Given the description of an element on the screen output the (x, y) to click on. 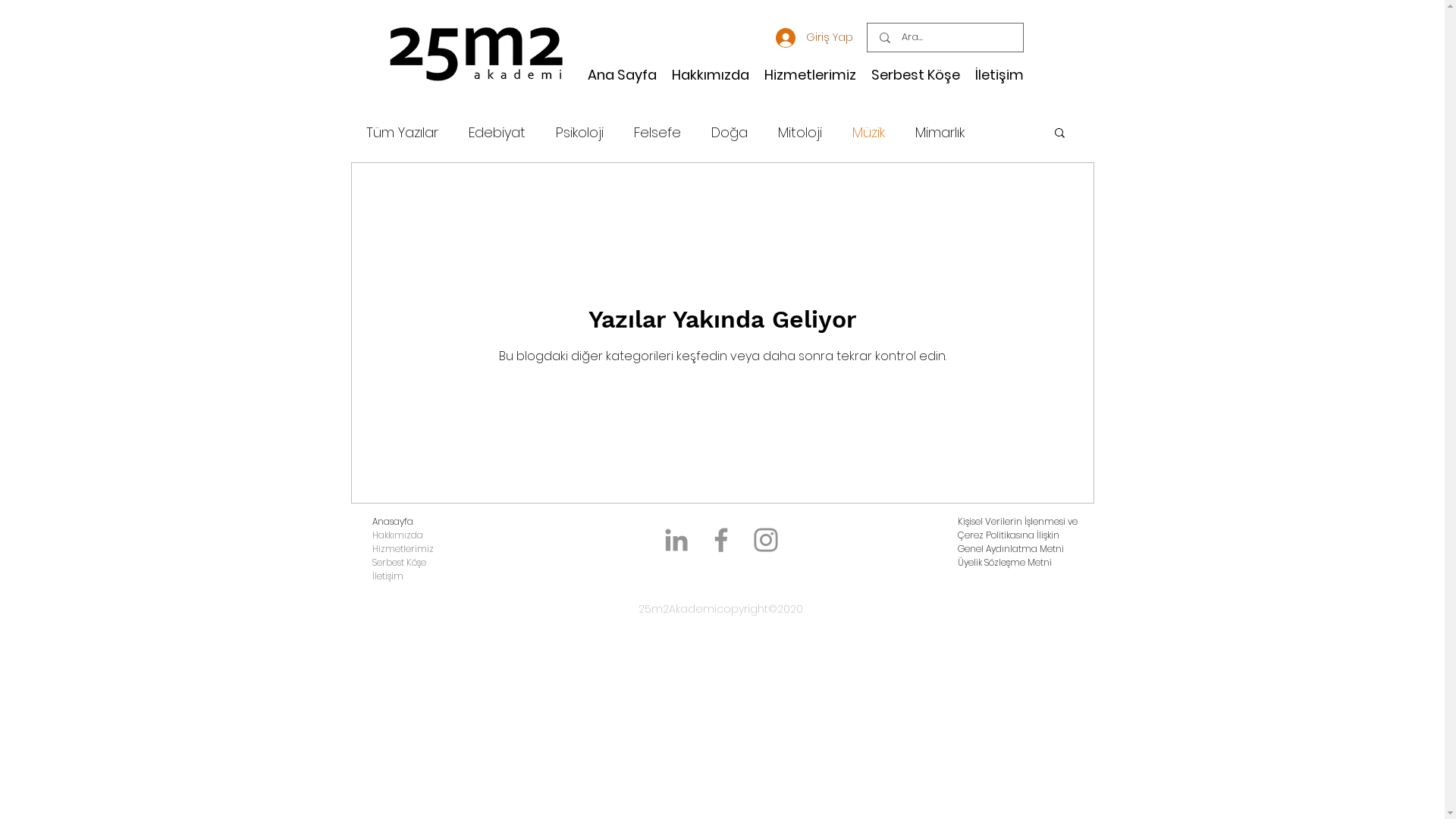
Edebiyat Element type: text (496, 131)
Ana Sayfa Element type: text (622, 74)
Hizmetlerimiz Element type: text (402, 548)
Hizmetlerimiz Element type: text (809, 74)
Psikoloji Element type: text (578, 131)
Felsefe Element type: text (656, 131)
Mitoloji Element type: text (800, 131)
Anasayfa Element type: text (391, 520)
